Given the description of an element on the screen output the (x, y) to click on. 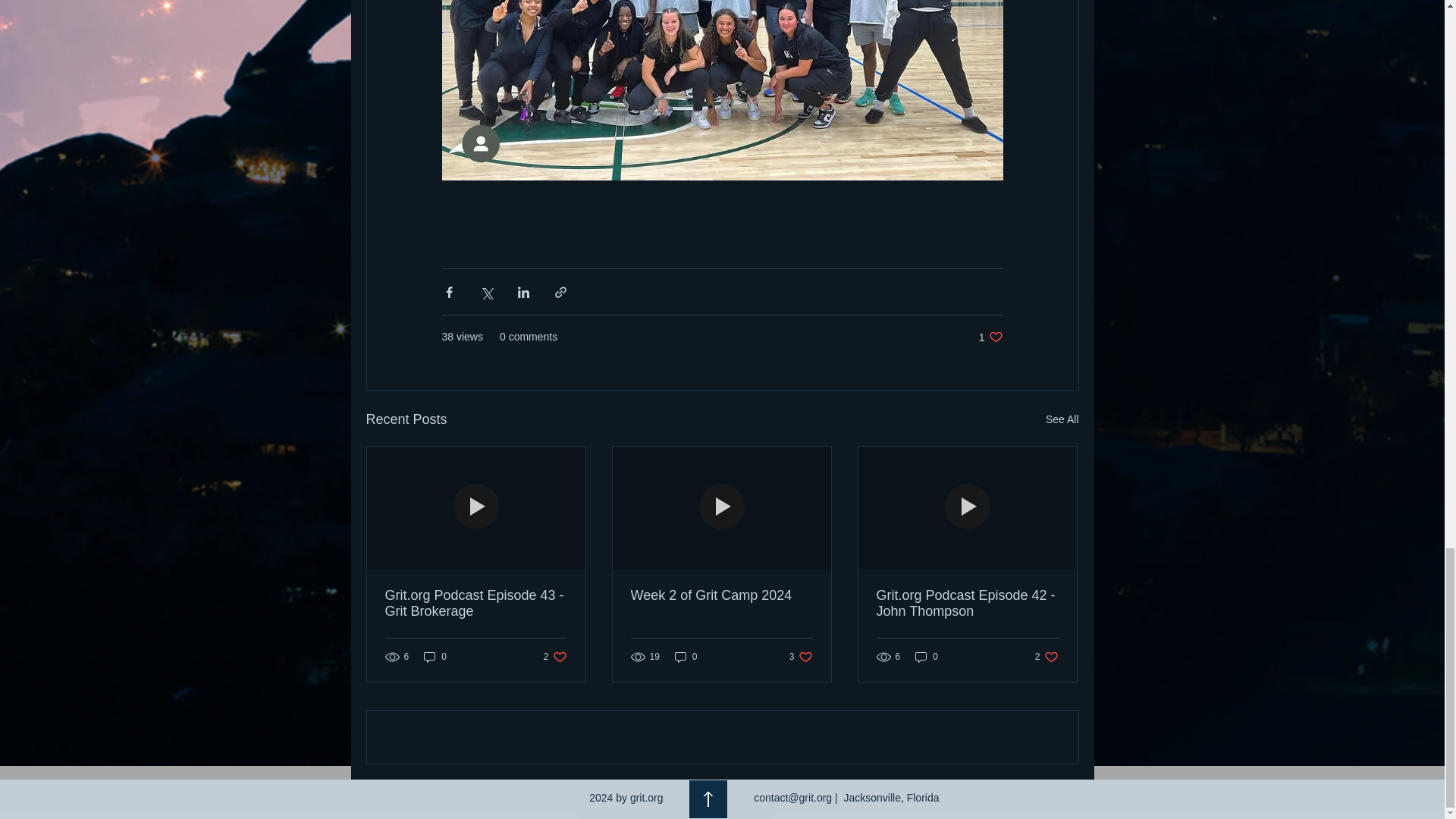
See All (1061, 419)
0 (435, 657)
0 (990, 336)
Grit.org Podcast Episode 43 - Grit Brokerage (555, 657)
Week 2 of Grit Camp 2024 (685, 657)
